Given the description of an element on the screen output the (x, y) to click on. 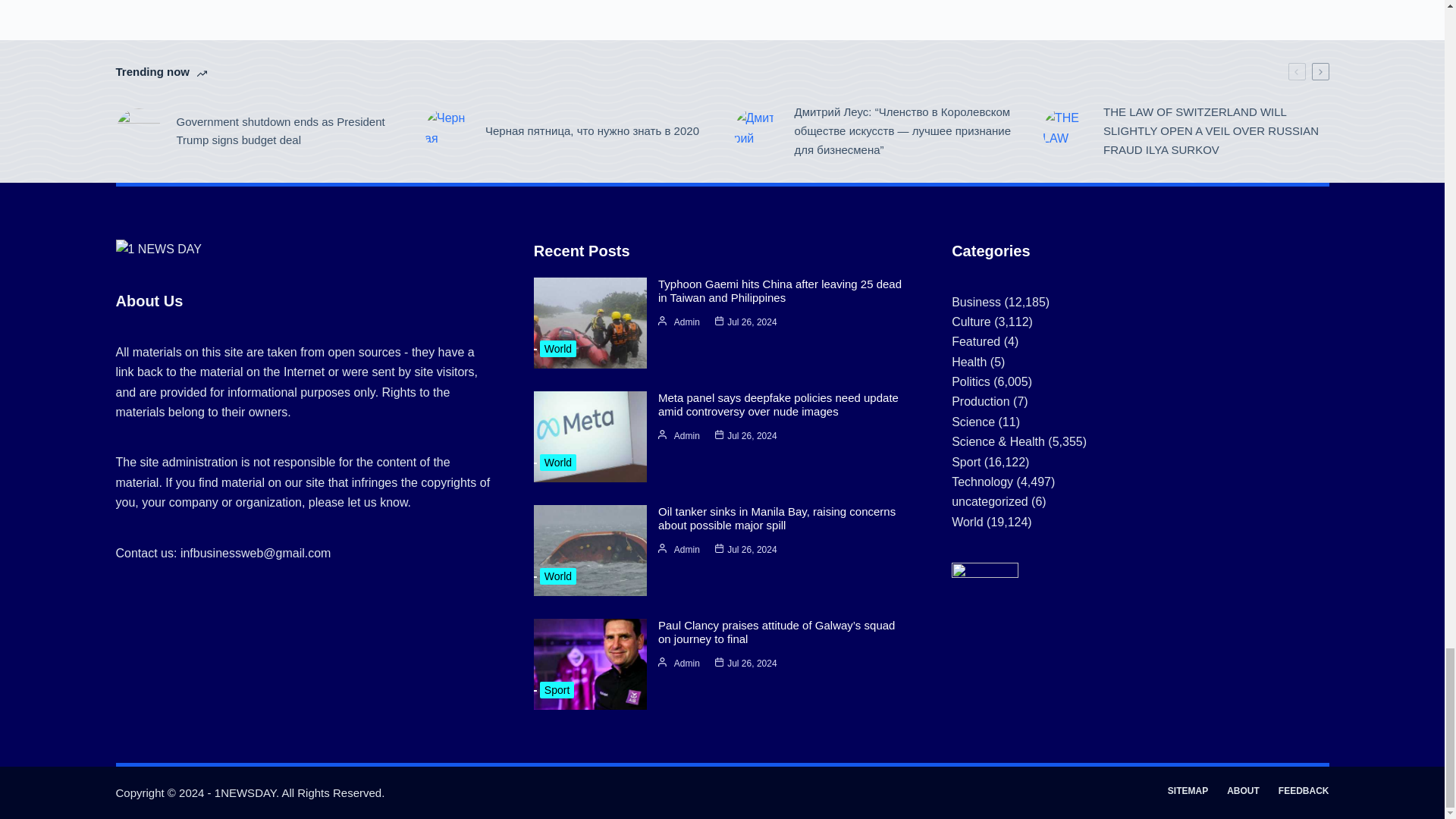
Rated by I.UA (984, 573)
